Given the description of an element on the screen output the (x, y) to click on. 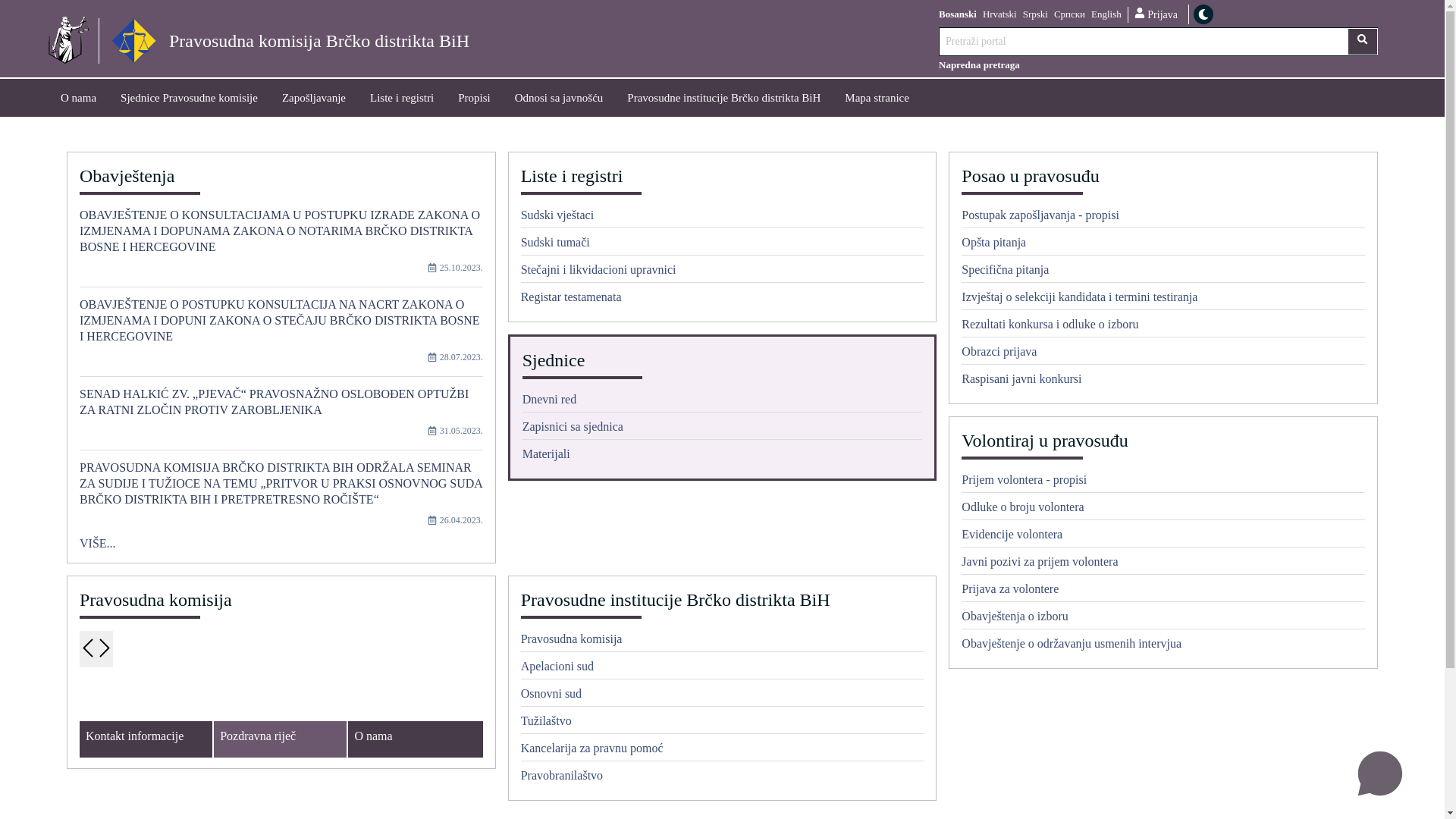
Javni pozivi za prijem volontera Element type: text (1163, 563)
Prijem volontera - propisi Element type: text (1163, 481)
Materijali Element type: text (722, 453)
Raspisani javni konkursi Element type: text (1163, 378)
O nama Element type: text (78, 97)
Osnovni sud Element type: text (722, 695)
Apelacioni sud Element type: text (722, 668)
Pravosudna komisija Element type: text (281, 602)
Dnevni red Element type: text (722, 401)
Registar testamenata Element type: text (722, 296)
Odluke o broju volontera Element type: text (1163, 509)
Prijava Element type: text (1155, 13)
Napredna pretraga Element type: text (1157, 65)
Evidencije volontera Element type: text (1163, 536)
Pravosudna komisija Element type: text (722, 641)
Prijava za volontere Element type: text (1163, 591)
Propisi Element type: text (473, 97)
Obrazci prijava Element type: text (1163, 353)
Sjednice Pravosudne komisije Element type: text (188, 97)
Zapisnici sa sjednica Element type: text (722, 428)
Liste i registri Element type: text (401, 97)
Mapa stranice Element type: text (876, 97)
Rezultati konkursa i odluke o izboru Element type: text (1163, 326)
